Given the description of an element on the screen output the (x, y) to click on. 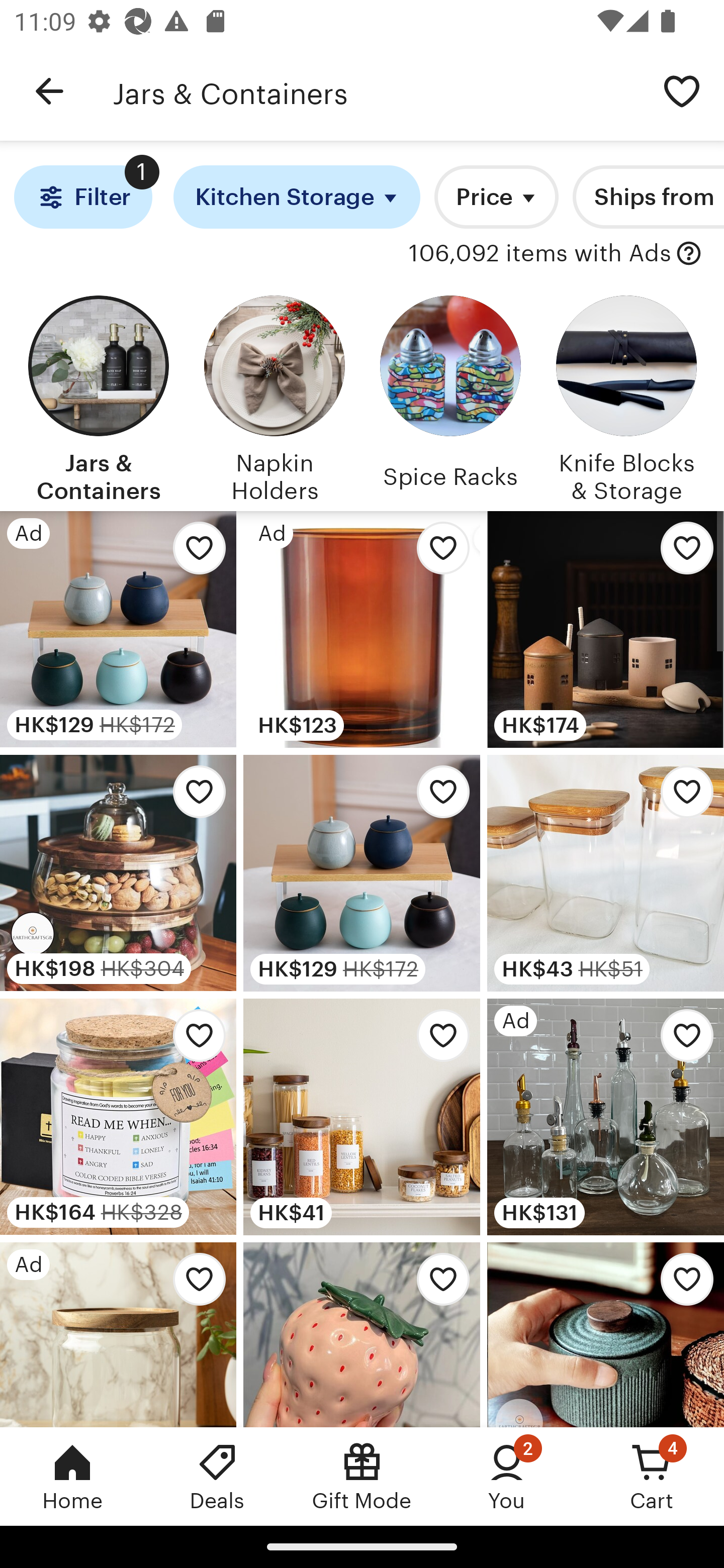
Navigate up (49, 91)
Save search (681, 90)
Jars & Containers (375, 91)
Filter (82, 197)
Kitchen Storage (296, 197)
Price (496, 197)
Ships from (648, 197)
106,092 items with Ads (540, 253)
with Ads (688, 253)
Jars & Containers (97, 395)
Napkin Holders (273, 395)
Spice Racks (449, 395)
Knife Blocks & Storage (625, 395)
Add Amber Jars EMPTY Containers to favorites (438, 553)
Deals (216, 1475)
Gift Mode (361, 1475)
You, 2 new notifications You (506, 1475)
Cart, 4 new notifications Cart (651, 1475)
